Given the description of an element on the screen output the (x, y) to click on. 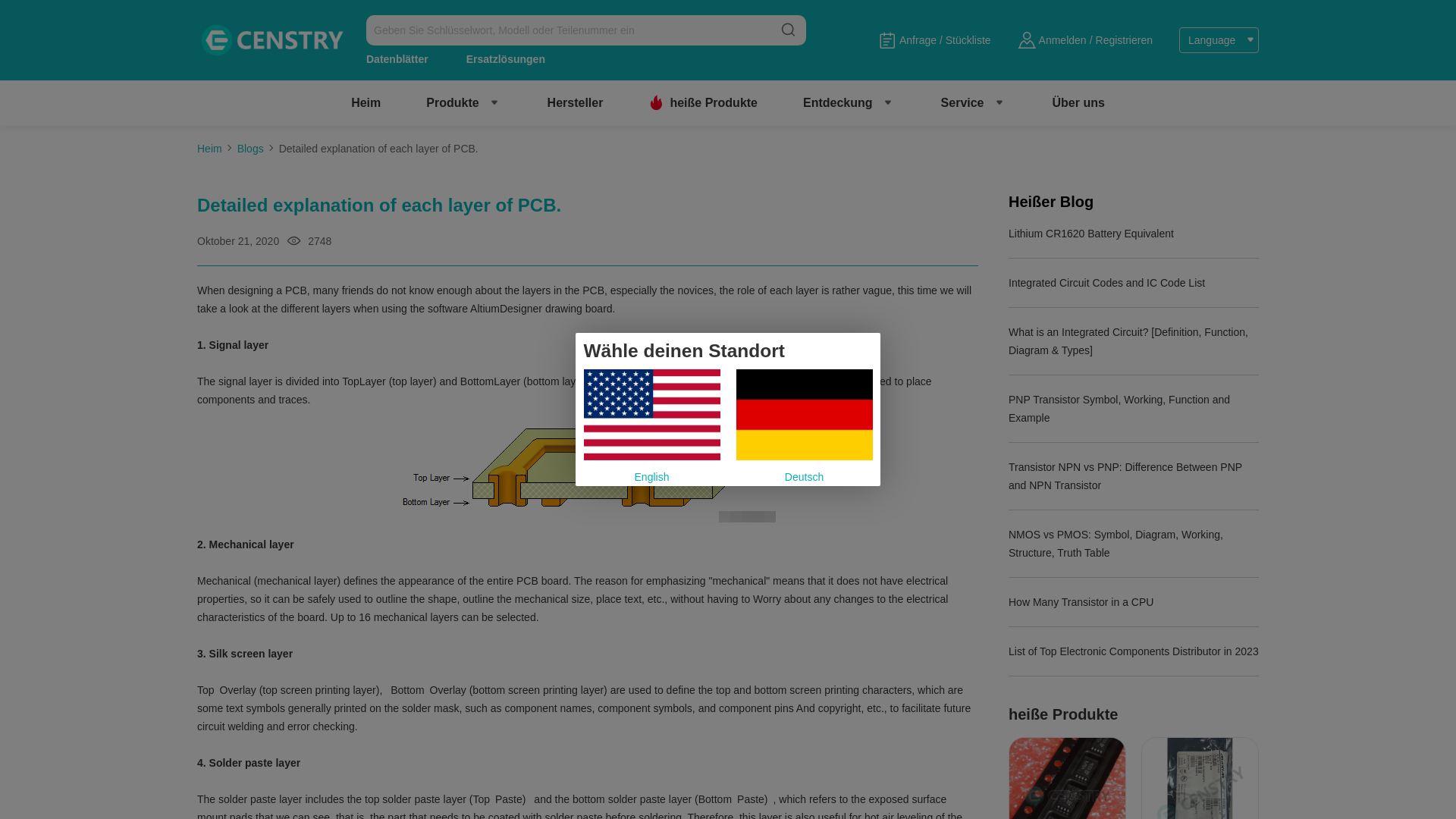
Anmelden (1062, 39)
Censtry (269, 40)
Heim (365, 102)
Heim (365, 102)
Language (1219, 40)
Registrieren (1124, 39)
Registrieren (1124, 39)
Anmelden (1062, 39)
